Given the description of an element on the screen output the (x, y) to click on. 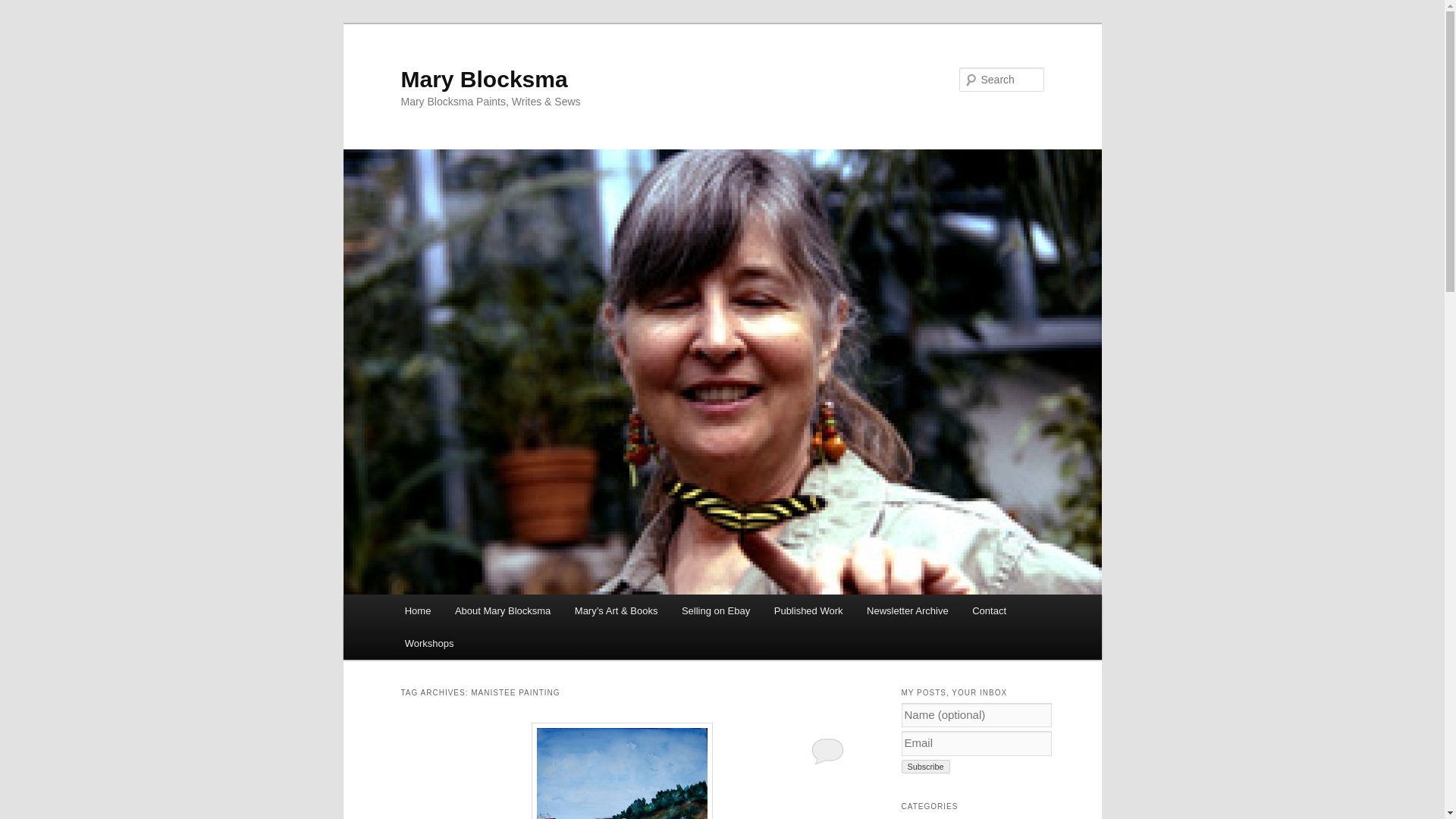
Contact (988, 610)
Mary Blocksma (483, 78)
About Mary Blocksma (502, 610)
Newsletter Archive (906, 610)
Home (417, 610)
Workshops (429, 643)
Search (24, 8)
subscribe (925, 766)
subscribe (925, 766)
